Given the description of an element on the screen output the (x, y) to click on. 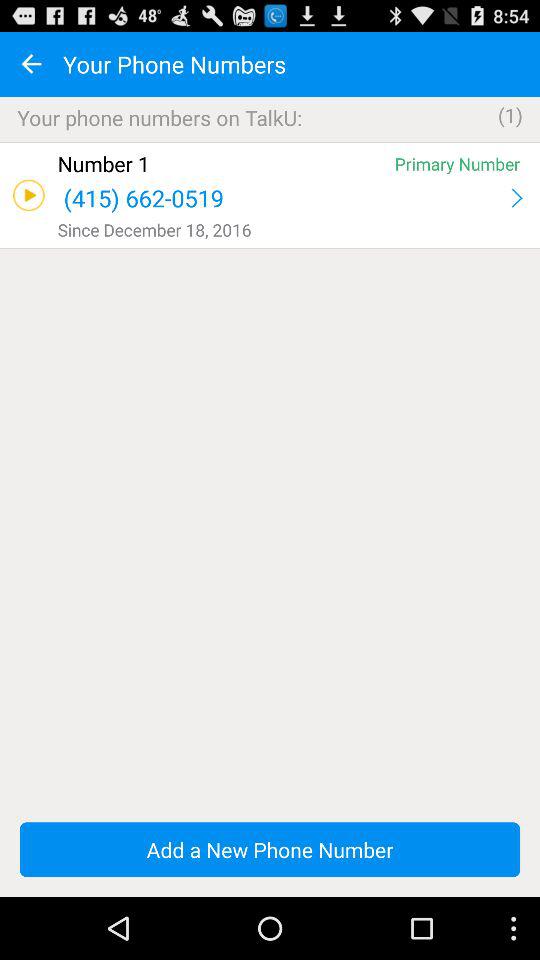
scroll to number 1 item (222, 163)
